Given the description of an element on the screen output the (x, y) to click on. 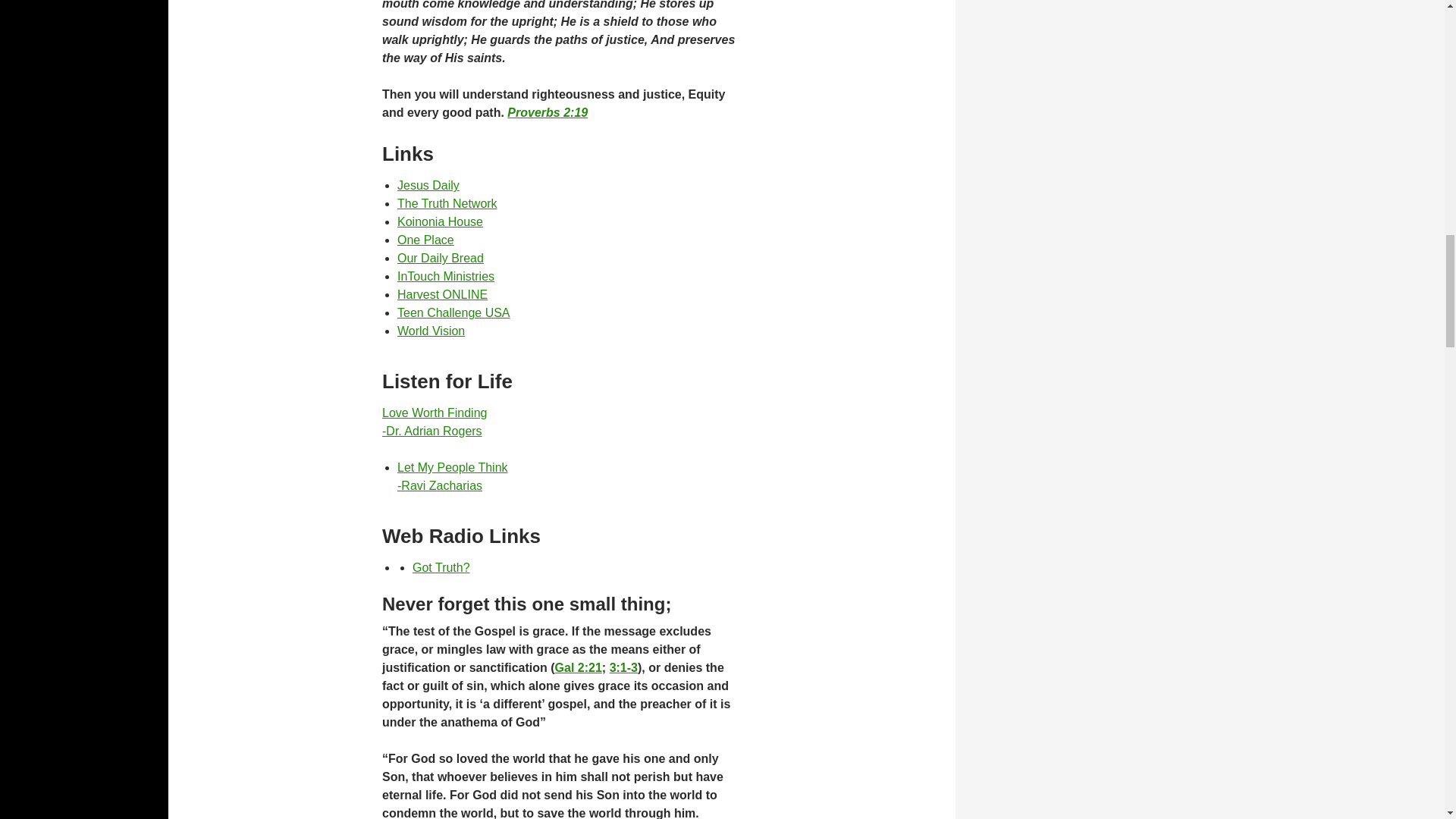
Koinonia House (440, 221)
The Truth Network (447, 203)
One Place (425, 239)
Proverbs 2:19 (547, 112)
Gal 2:21 (578, 667)
Jesus Daily (428, 185)
World Vision (430, 330)
Our Daily Bread (452, 476)
Harvest ONLINE (440, 257)
Teen Challenge USA (442, 294)
Got Truth? (454, 312)
InTouch Ministries (433, 421)
3:1-3 (441, 567)
